Given the description of an element on the screen output the (x, y) to click on. 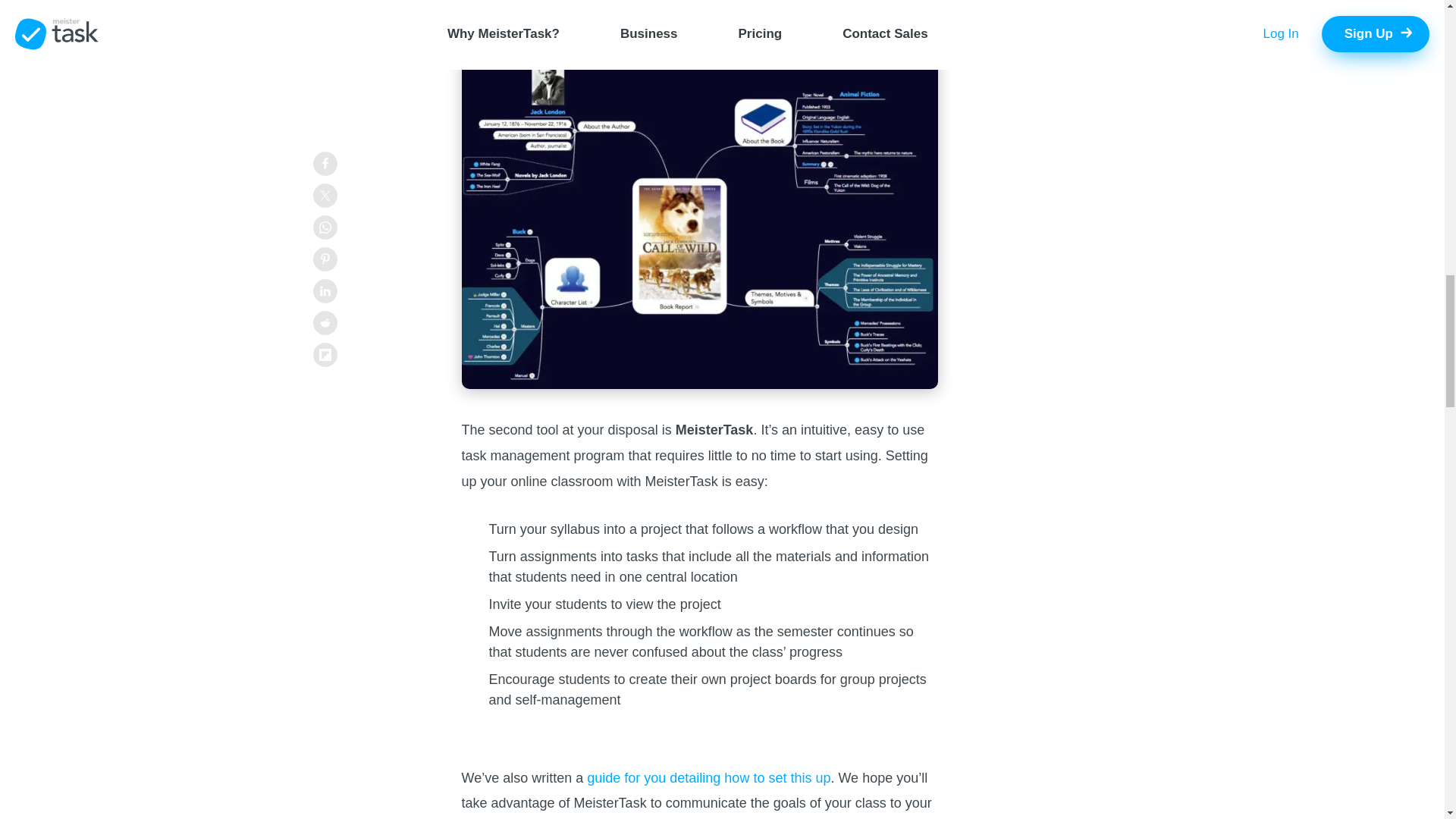
guide for you detailing how to set this up (706, 777)
